Given the description of an element on the screen output the (x, y) to click on. 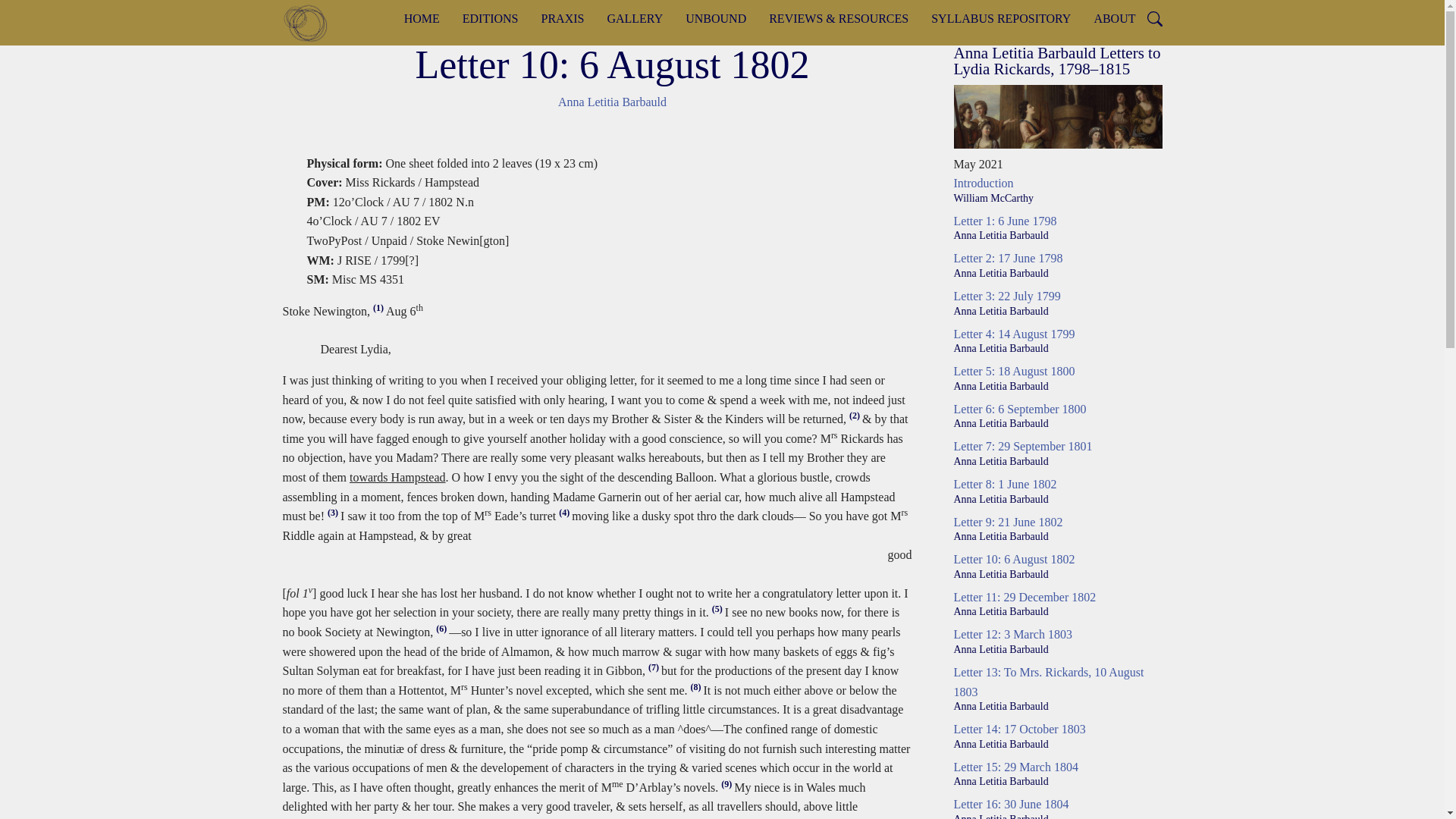
Home (310, 22)
SYLLABUS REPOSITORY (1000, 18)
ABOUT (1114, 18)
HOME (422, 18)
GALLERY (634, 18)
UNBOUND (715, 18)
PRAXIS (562, 18)
EDITIONS (490, 18)
Anna Letitia Barbauld (611, 101)
